Given the description of an element on the screen output the (x, y) to click on. 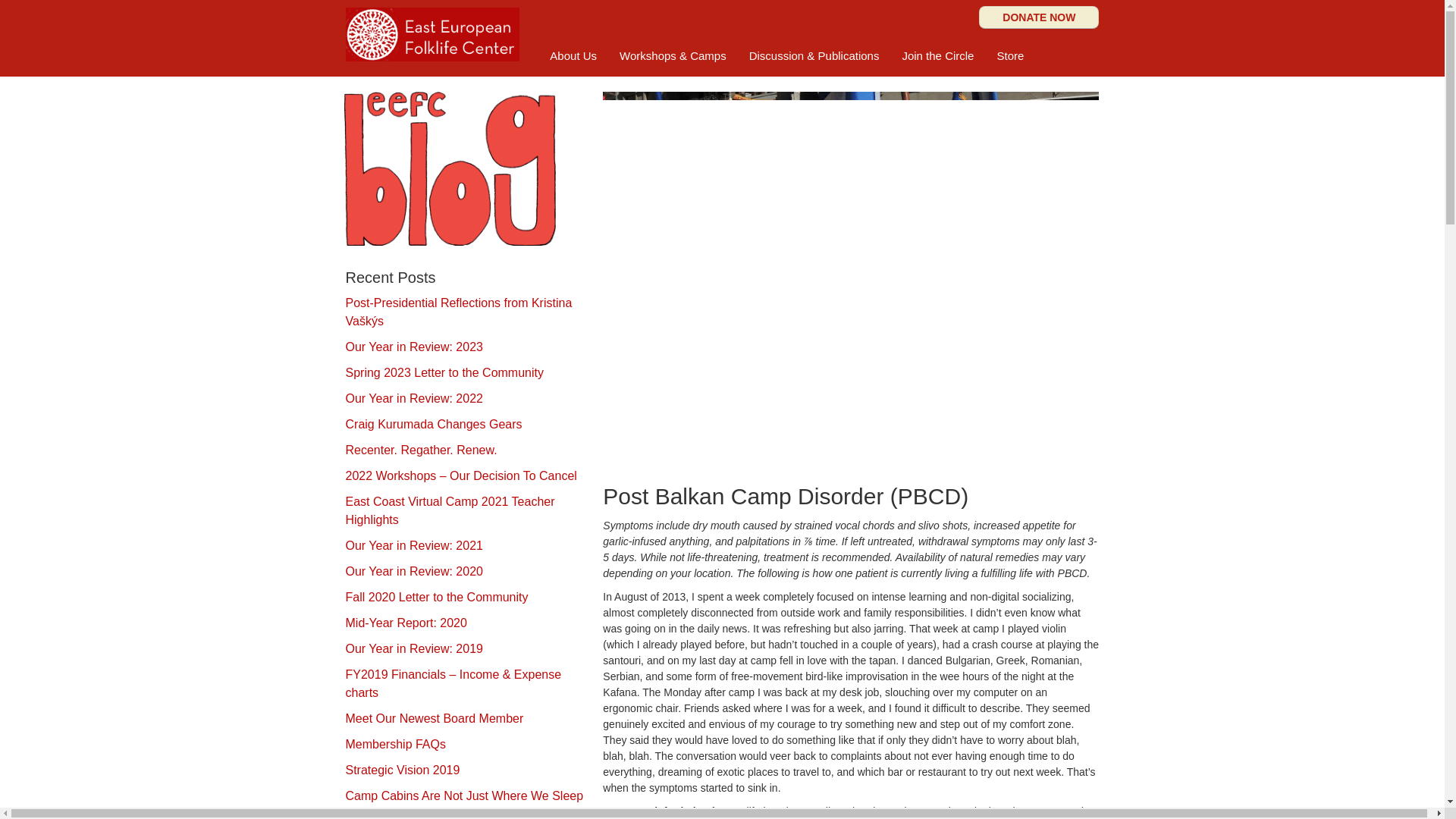
Our Year in Review: 2022 (414, 398)
East Coast Virtual Camp 2021 Teacher Highlights (450, 510)
Store (1010, 56)
Recenter. Regather. Renew. (421, 449)
Join the Circle (937, 56)
Our Year in Review: 2023 (414, 346)
Craig Kurumada Changes Gears (434, 423)
About Us (573, 56)
DONATE NOW (1038, 16)
Spring 2023 Letter to the Community (444, 372)
